Given the description of an element on the screen output the (x, y) to click on. 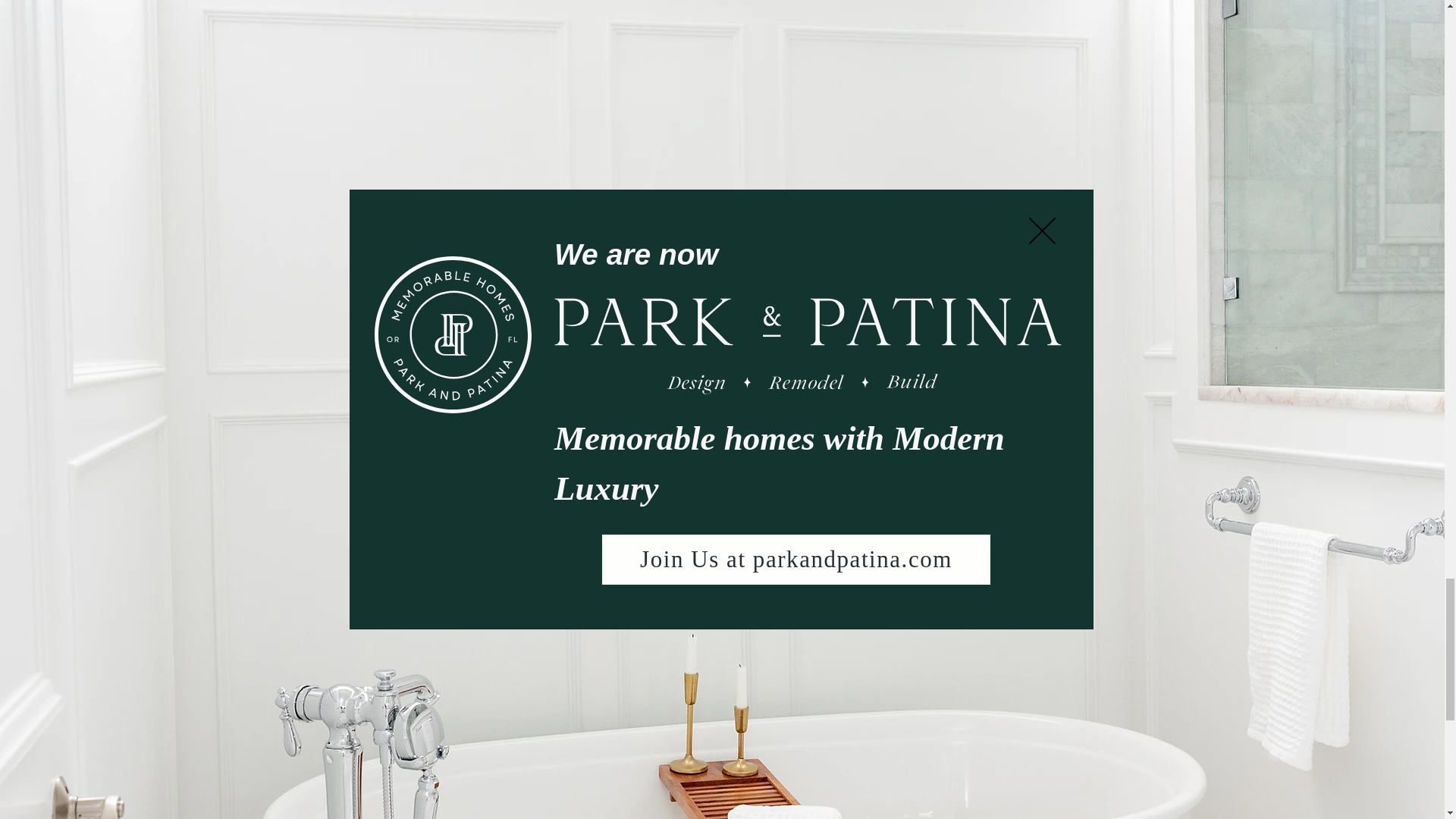
CONTACT US (439, 430)
Refresh this page (920, 1)
